Given the description of an element on the screen output the (x, y) to click on. 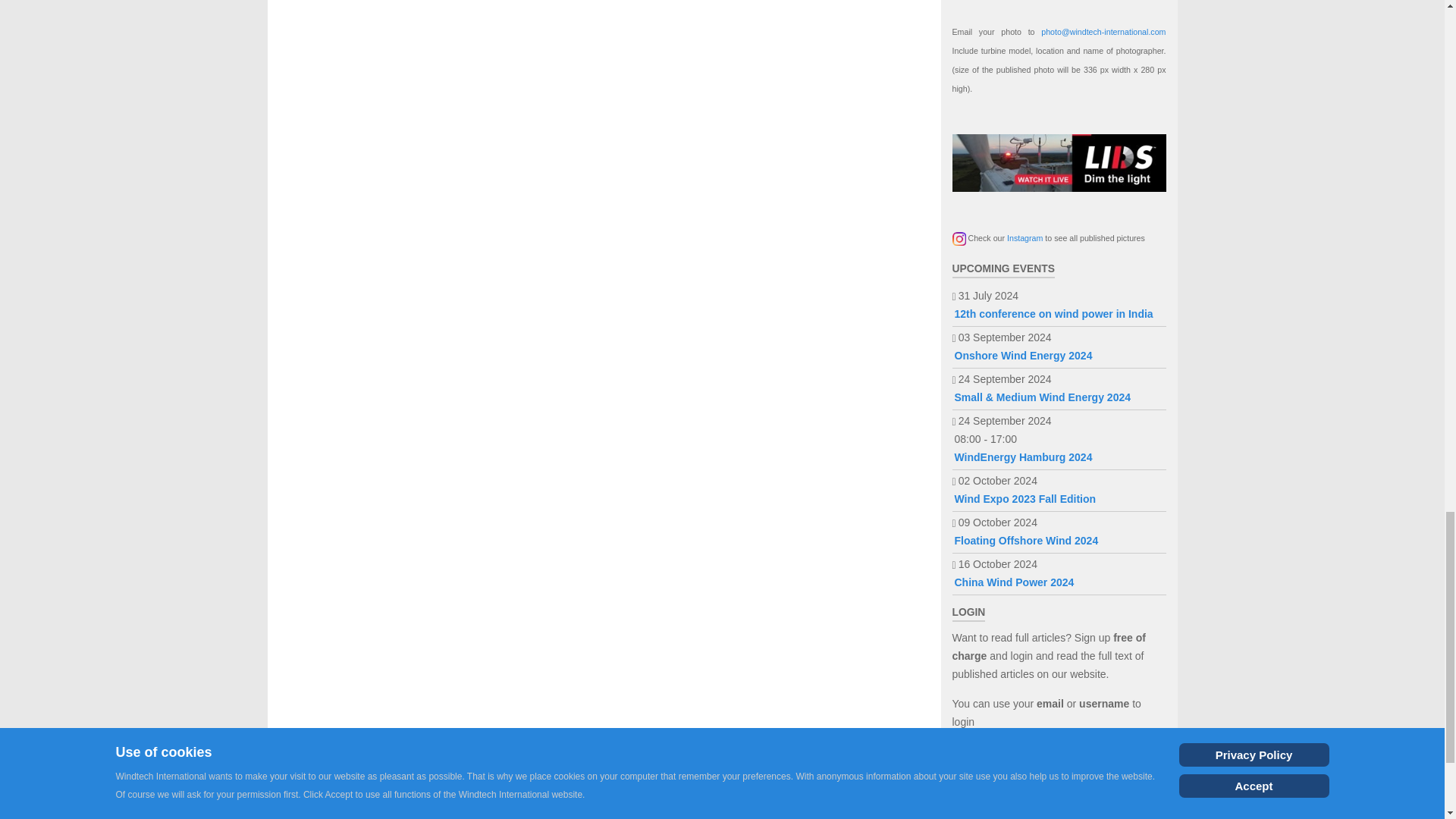
Username (1148, 759)
yes (957, 816)
